Given the description of an element on the screen output the (x, y) to click on. 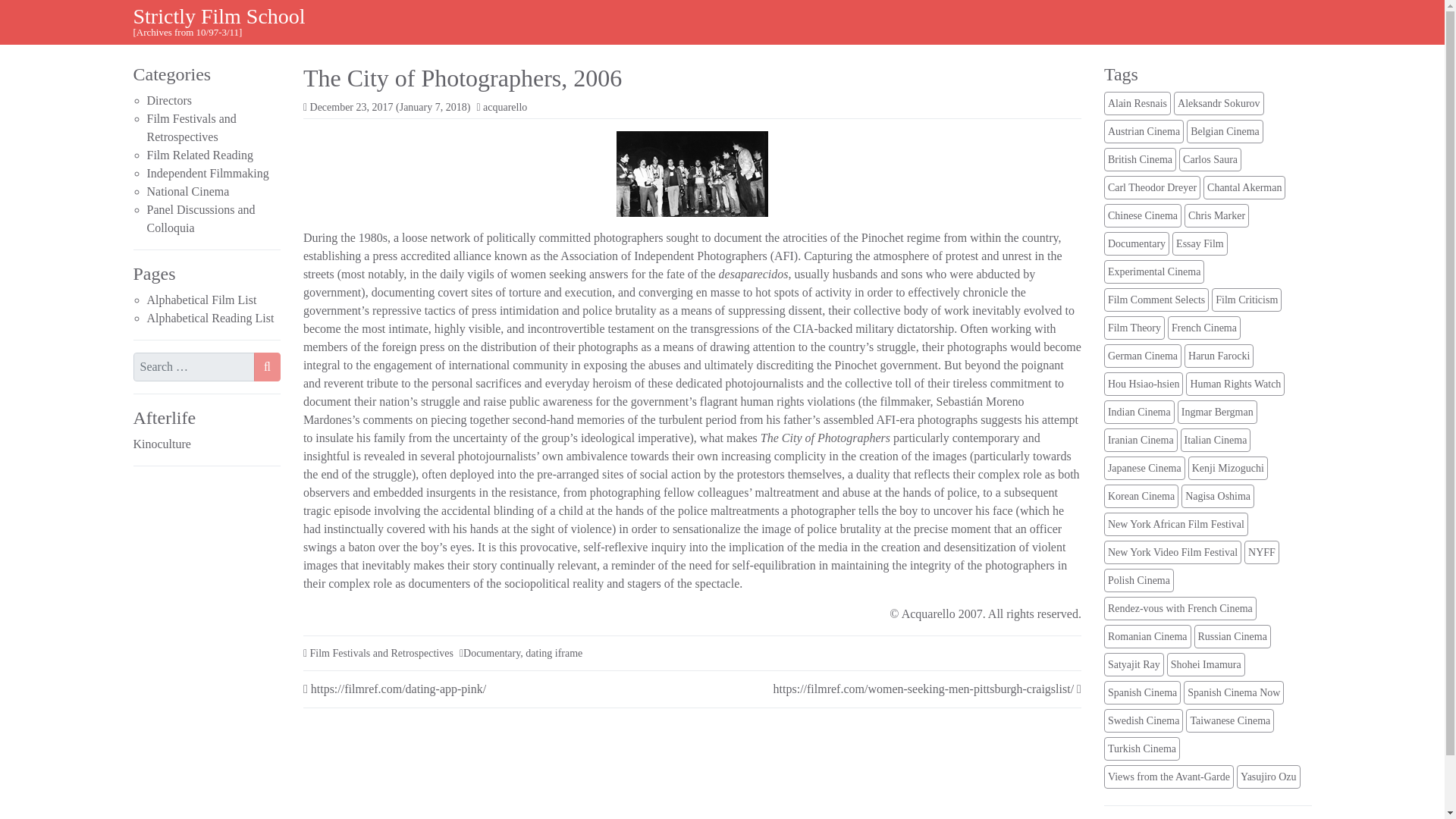
Film Criticism (1246, 300)
dating iframe (553, 653)
Independent Filmmaking (208, 173)
Skip to content (20, 17)
Directors (169, 100)
Chinese Cinema (1141, 215)
Carl Theodor Dreyer (1151, 187)
Film Festivals and Retrospectives (381, 653)
Belgian Cinema (1224, 131)
Film Theory (1133, 327)
Chris Marker (1217, 215)
Documentary (491, 653)
French Cinema (1203, 327)
Film Comment Selects (1155, 300)
Aleksandr Sokurov (1218, 103)
